Given the description of an element on the screen output the (x, y) to click on. 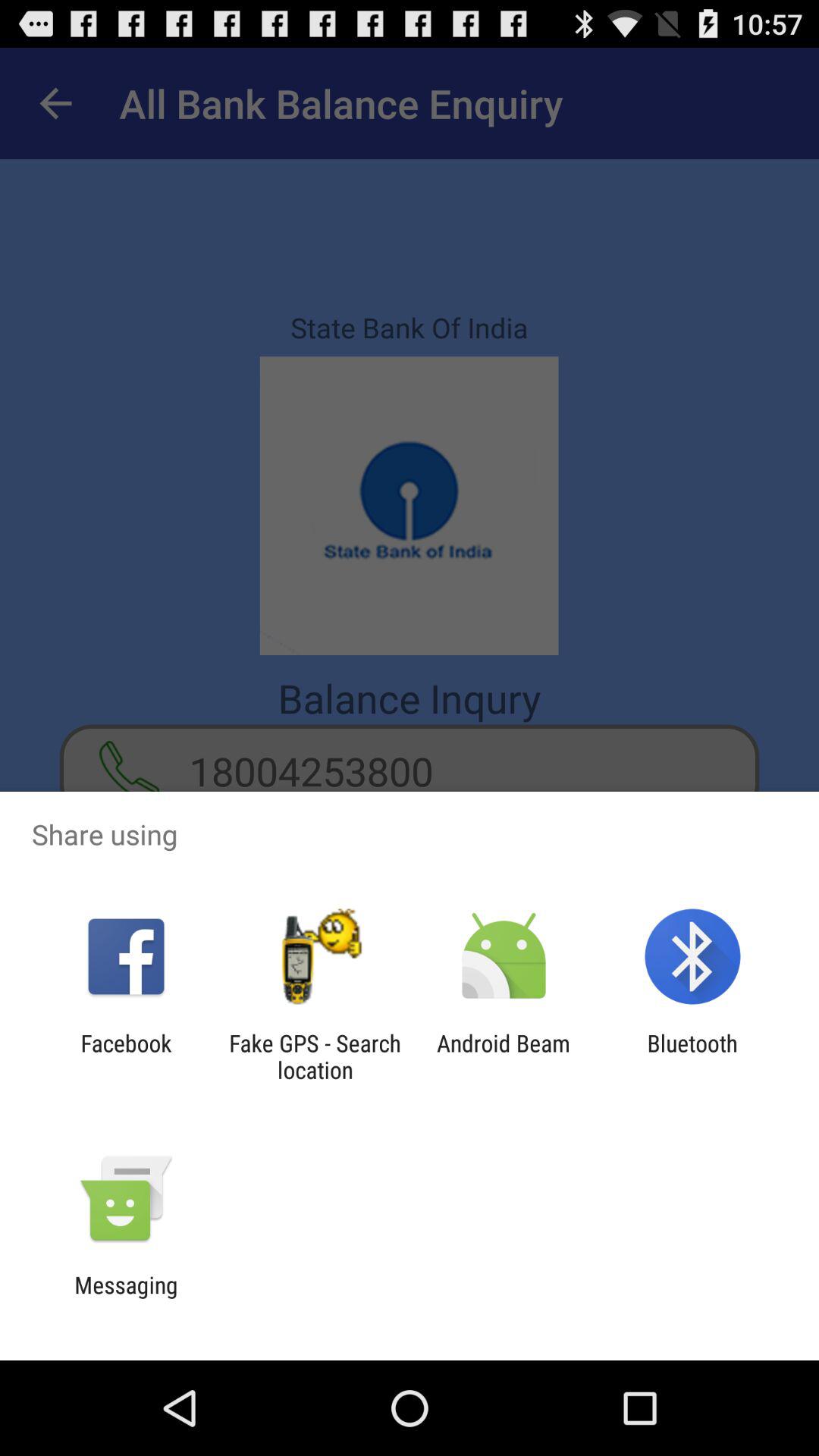
choose item next to the facebook app (314, 1056)
